Given the description of an element on the screen output the (x, y) to click on. 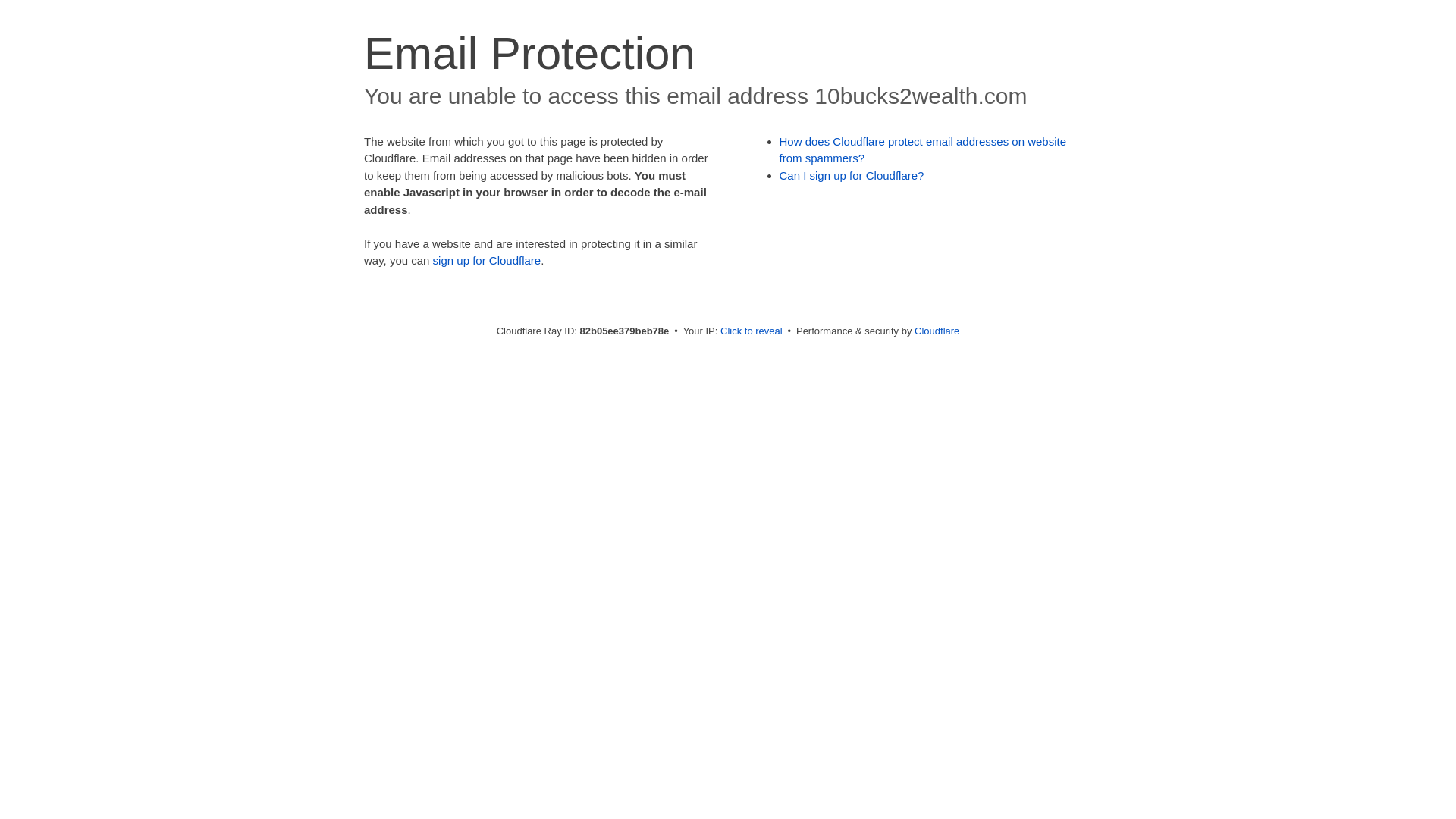
Click to reveal Element type: text (751, 330)
Cloudflare Element type: text (936, 330)
sign up for Cloudflare Element type: text (487, 260)
Can I sign up for Cloudflare? Element type: text (851, 175)
